Given the description of an element on the screen output the (x, y) to click on. 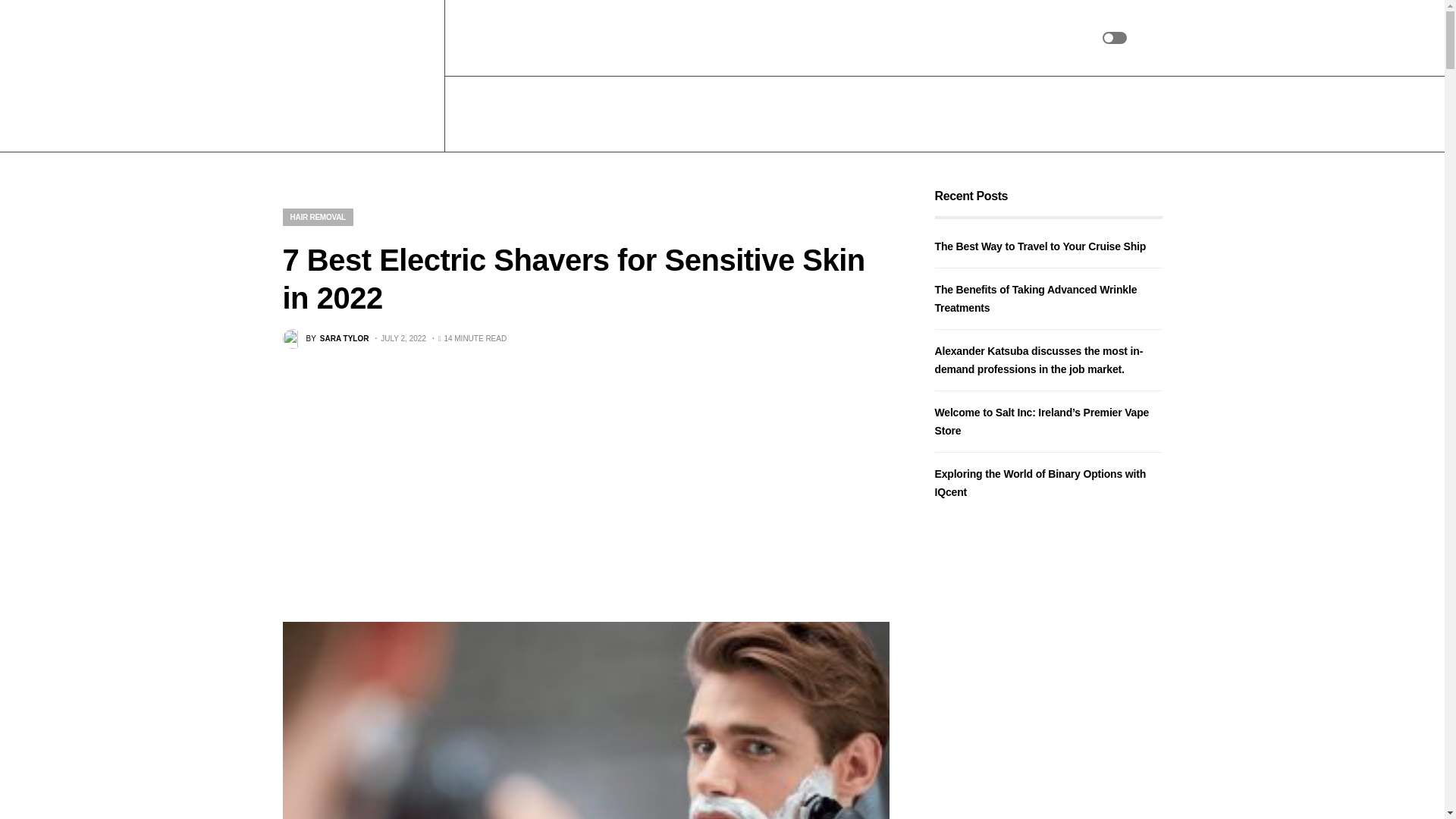
View all posts by Sara Tylor (325, 338)
Radar Magazine (355, 75)
